Given the description of an element on the screen output the (x, y) to click on. 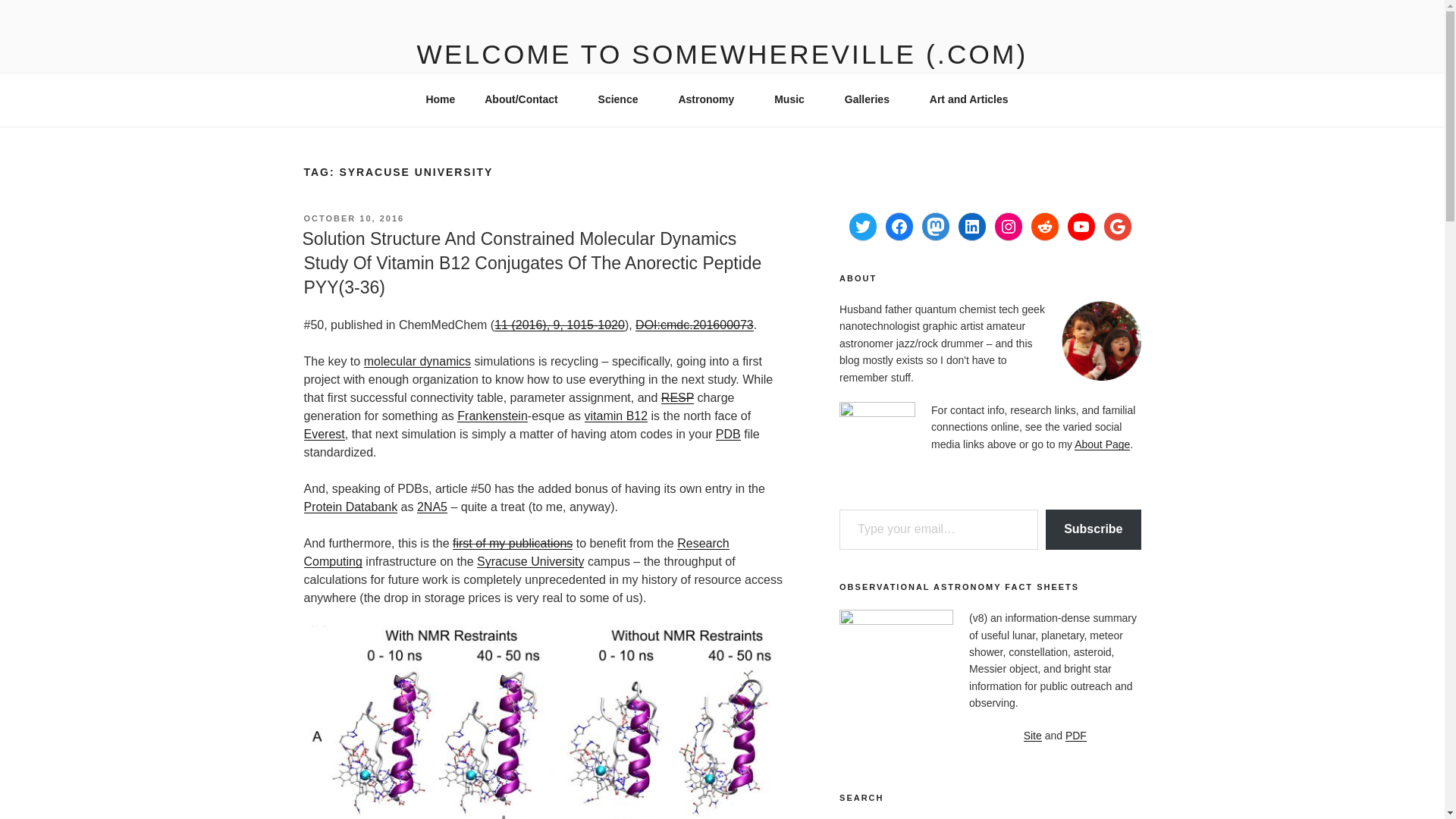
Astronomy (711, 99)
Music (794, 99)
Home (440, 99)
Science (623, 99)
